Given the description of an element on the screen output the (x, y) to click on. 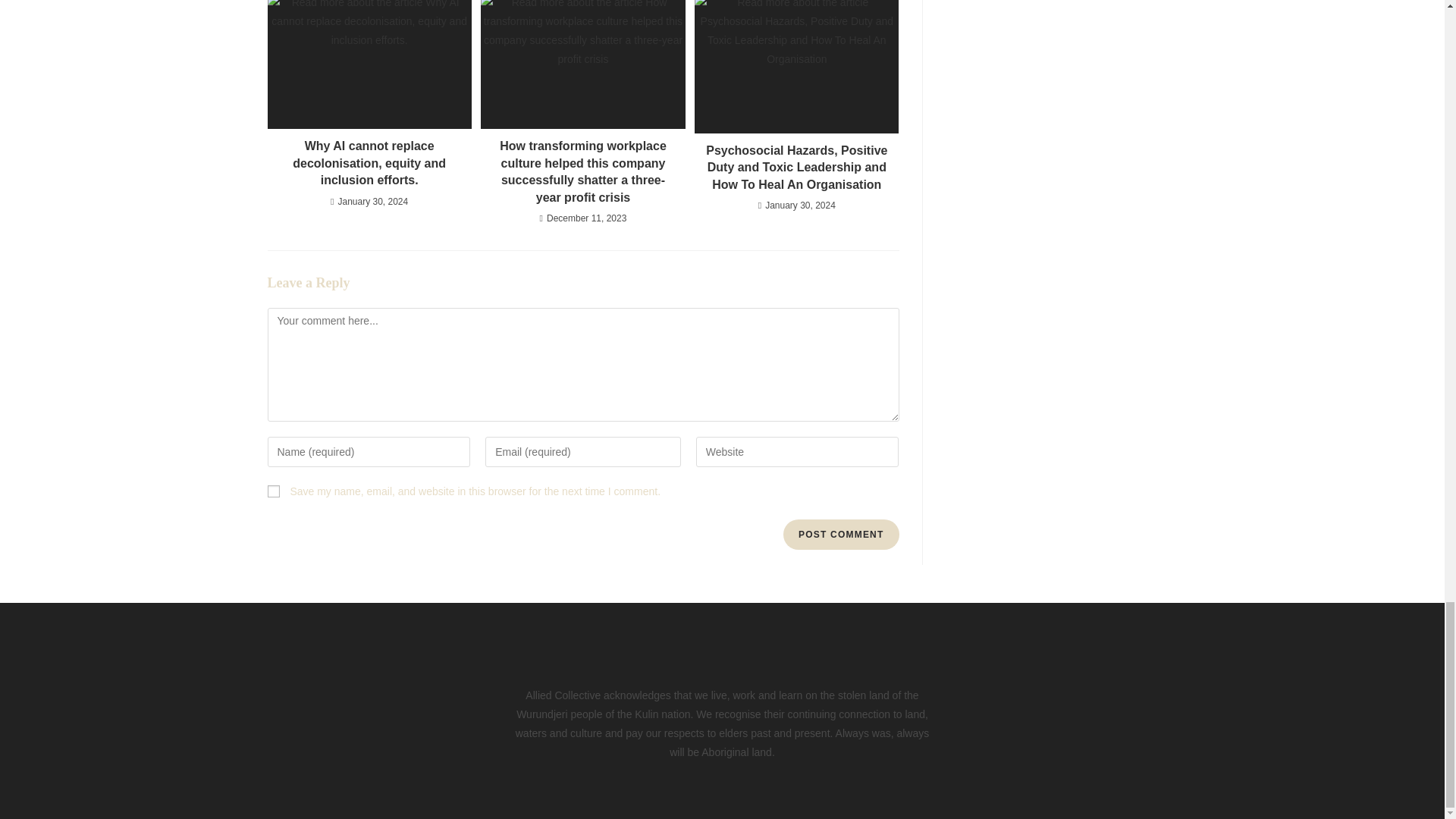
yes (272, 491)
Post Comment (840, 534)
Post Comment (840, 534)
